Given the description of an element on the screen output the (x, y) to click on. 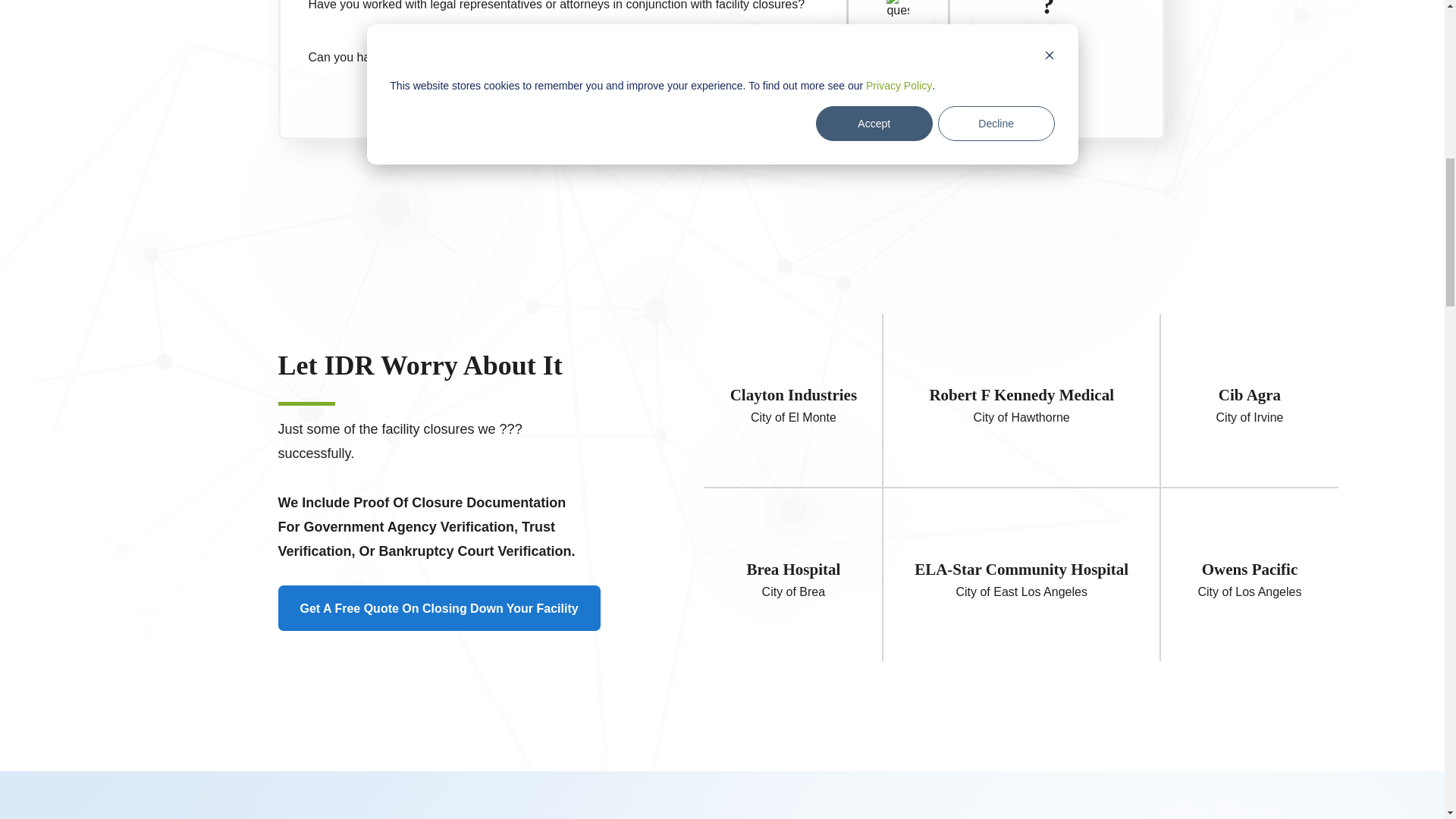
Get A Free Quote On Closing Down Your Facility (438, 607)
Get A Free Quote On Closing Down Your Facility (479, 607)
